Given the description of an element on the screen output the (x, y) to click on. 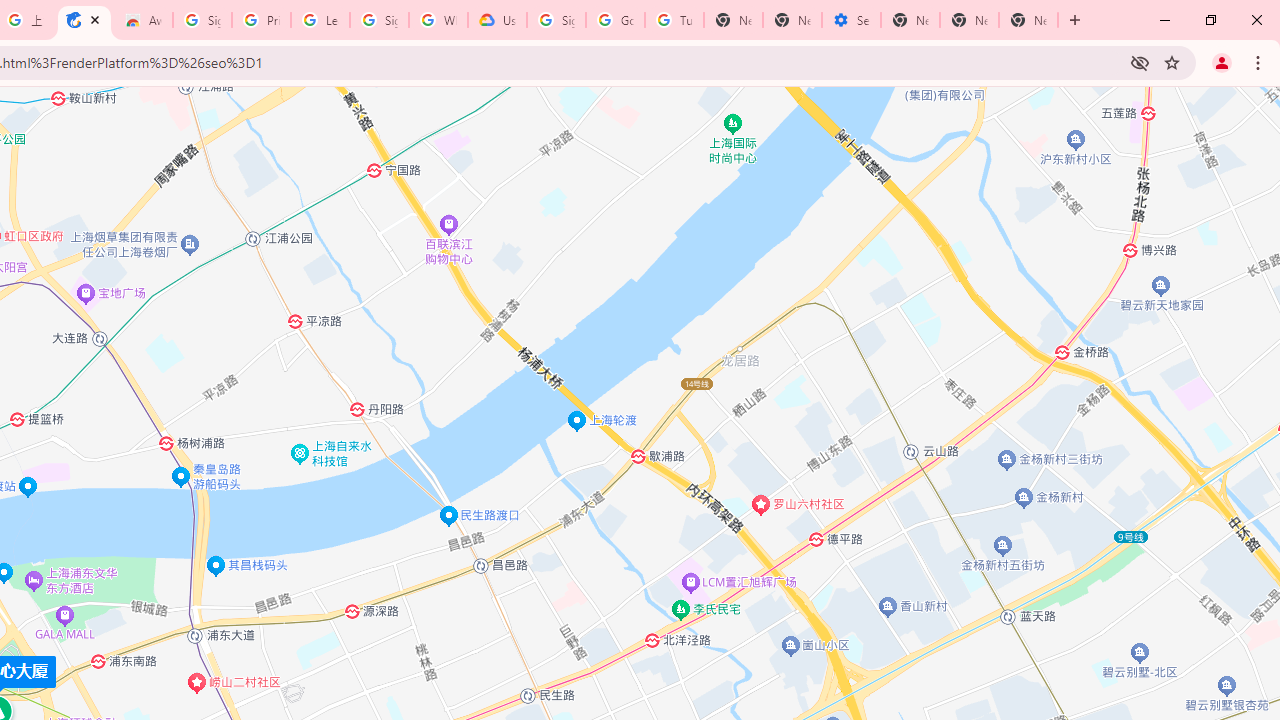
Sign in - Google Accounts (556, 20)
Sign in - Google Accounts (379, 20)
Awesome Screen Recorder & Screenshot - Chrome Web Store (142, 20)
Google Account Help (615, 20)
New Tab (1028, 20)
Sign in - Google Accounts (201, 20)
